Given the description of an element on the screen output the (x, y) to click on. 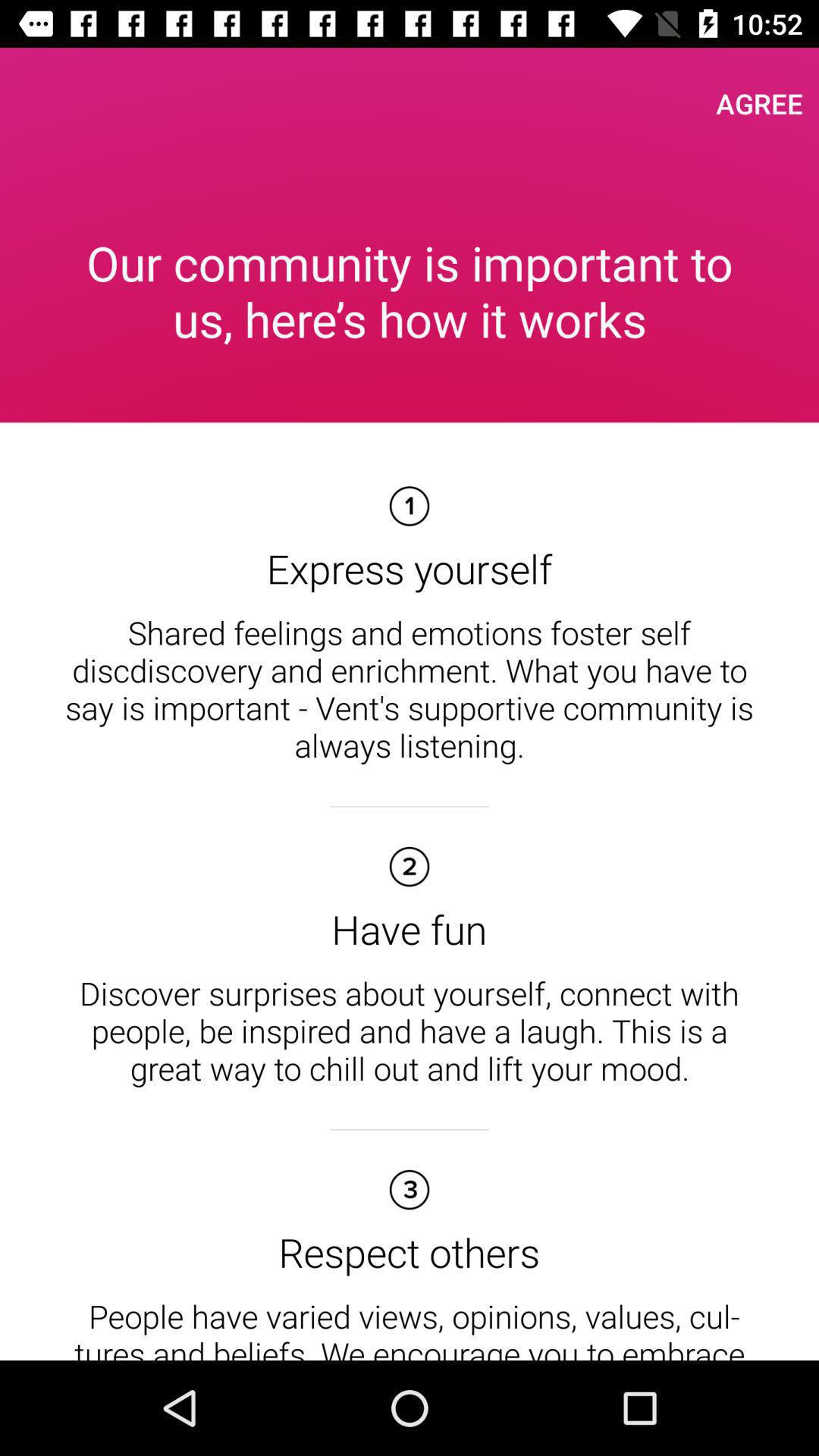
turn off the icon above our community is icon (759, 103)
